Given the description of an element on the screen output the (x, y) to click on. 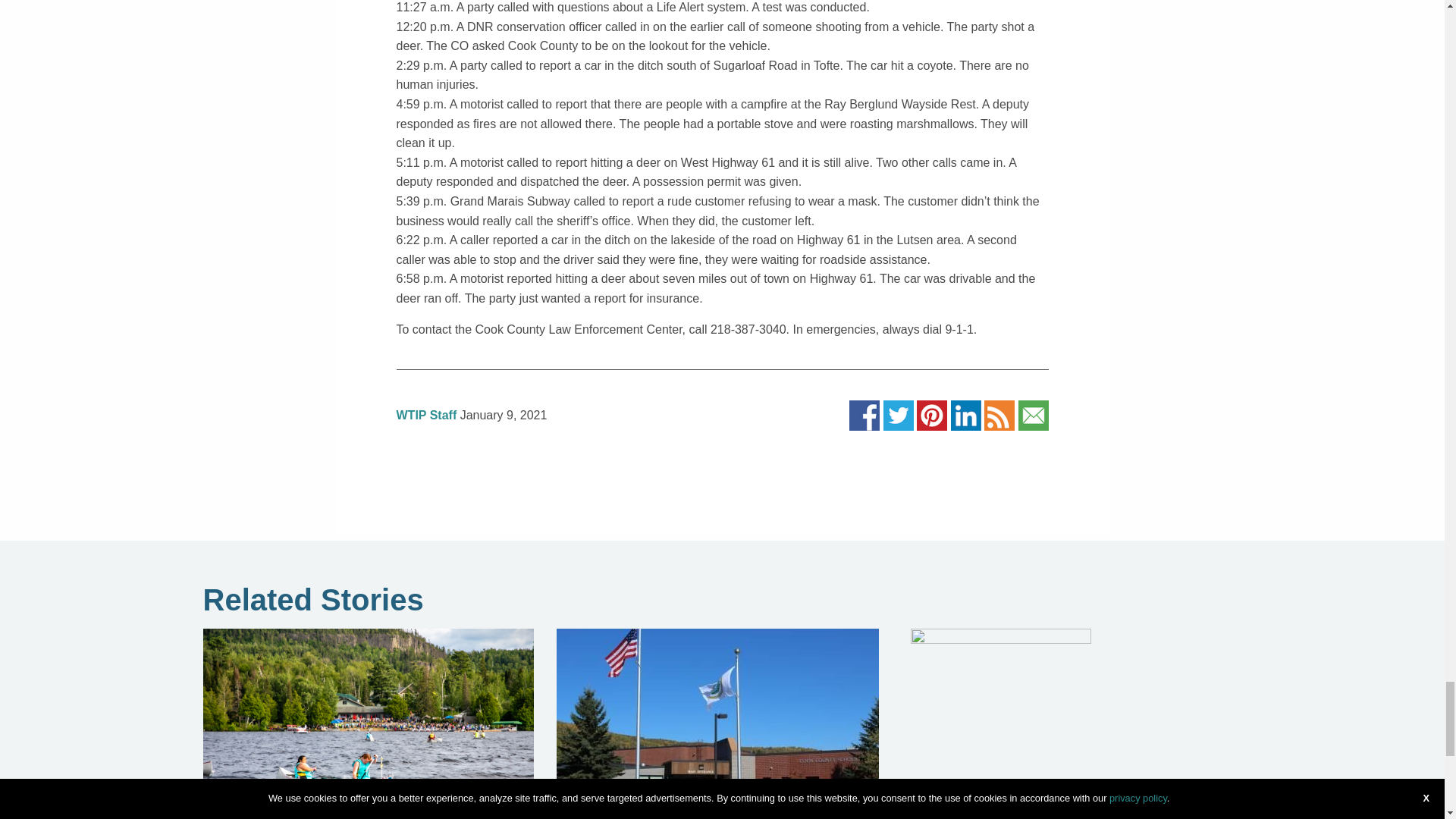
WTIP Staff (426, 414)
